Given the description of an element on the screen output the (x, y) to click on. 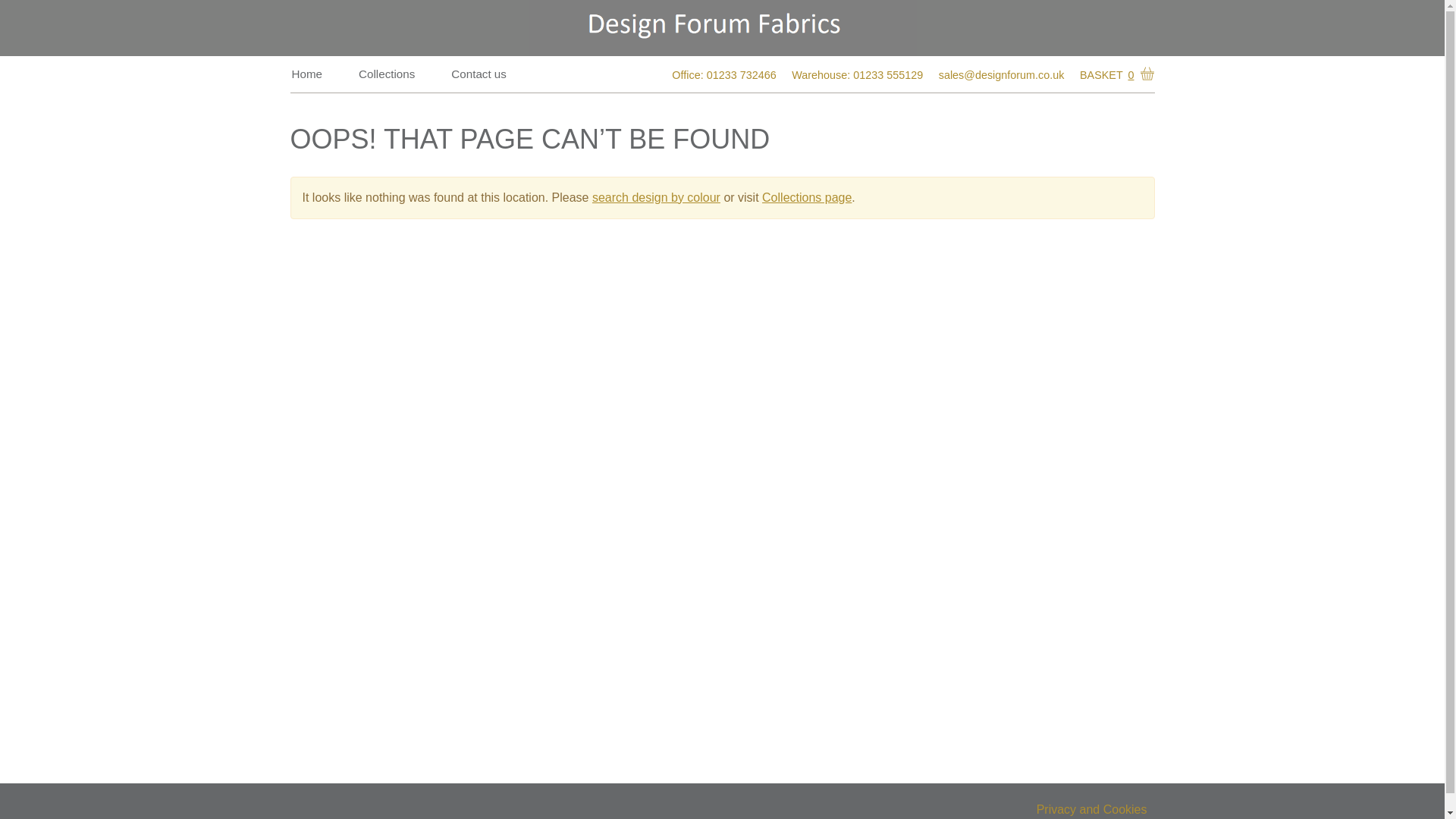
Home (307, 74)
Warehouse: 01233 555129 (857, 75)
Collections page (806, 196)
Collections (386, 74)
BASKET 0 (1114, 75)
Privacy and Cookies (1091, 809)
Design Forum (721, 28)
Office: 01233 732466 (723, 75)
search design by colour (656, 196)
Contact us (478, 74)
